Given the description of an element on the screen output the (x, y) to click on. 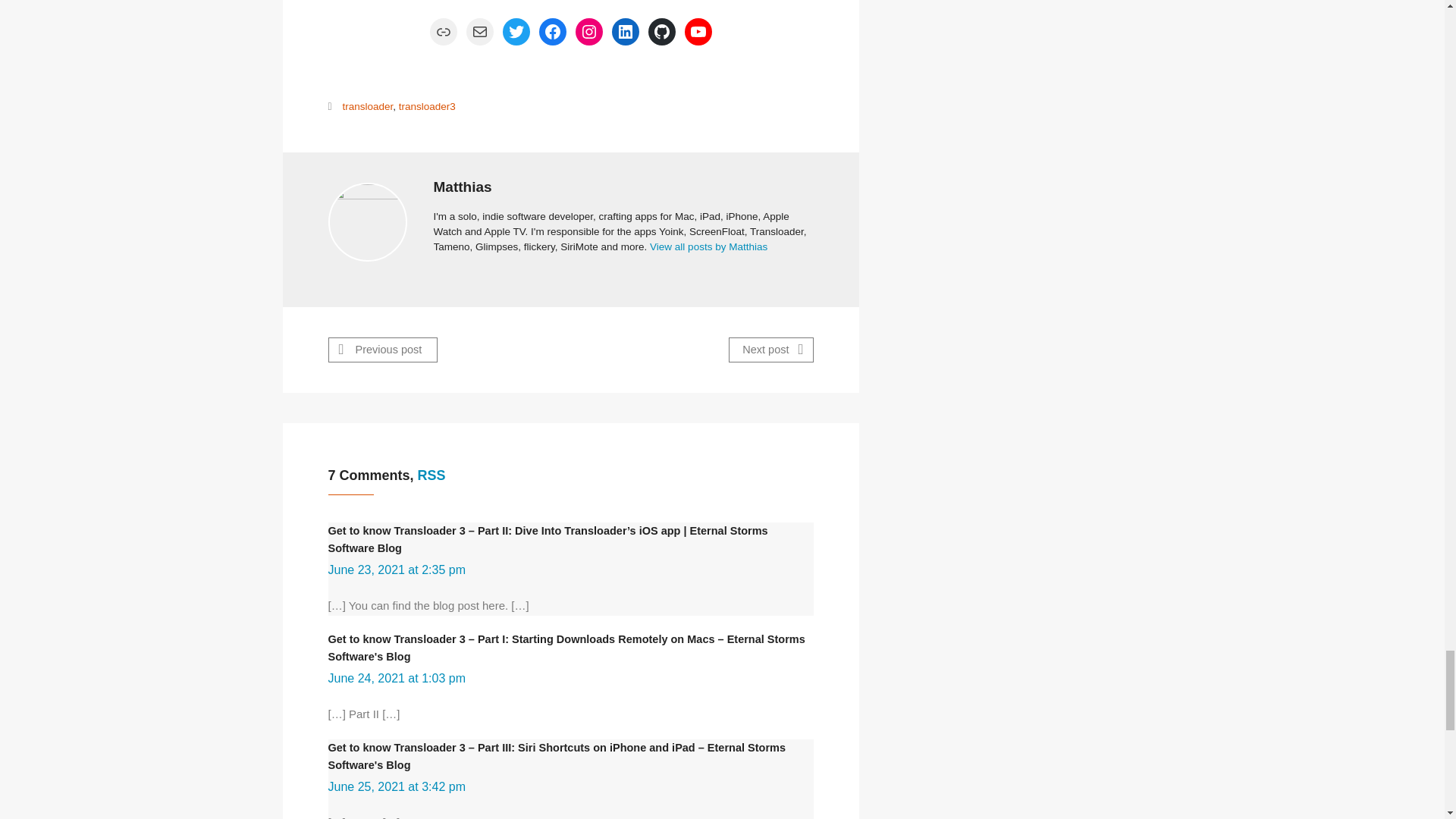
Comments RSS (431, 475)
Link (443, 31)
